Given the description of an element on the screen output the (x, y) to click on. 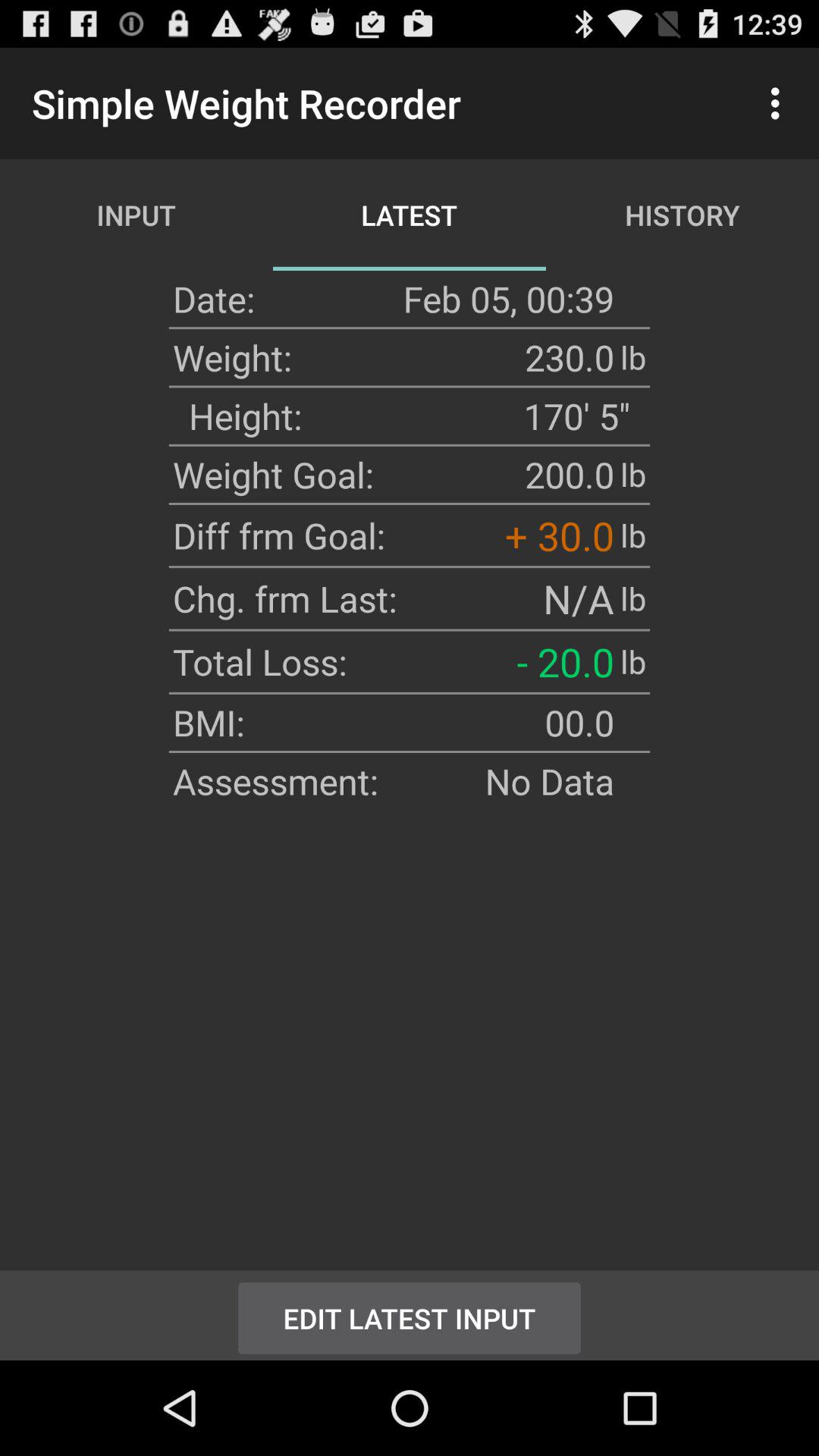
open the item below assessment: (409, 1315)
